Given the description of an element on the screen output the (x, y) to click on. 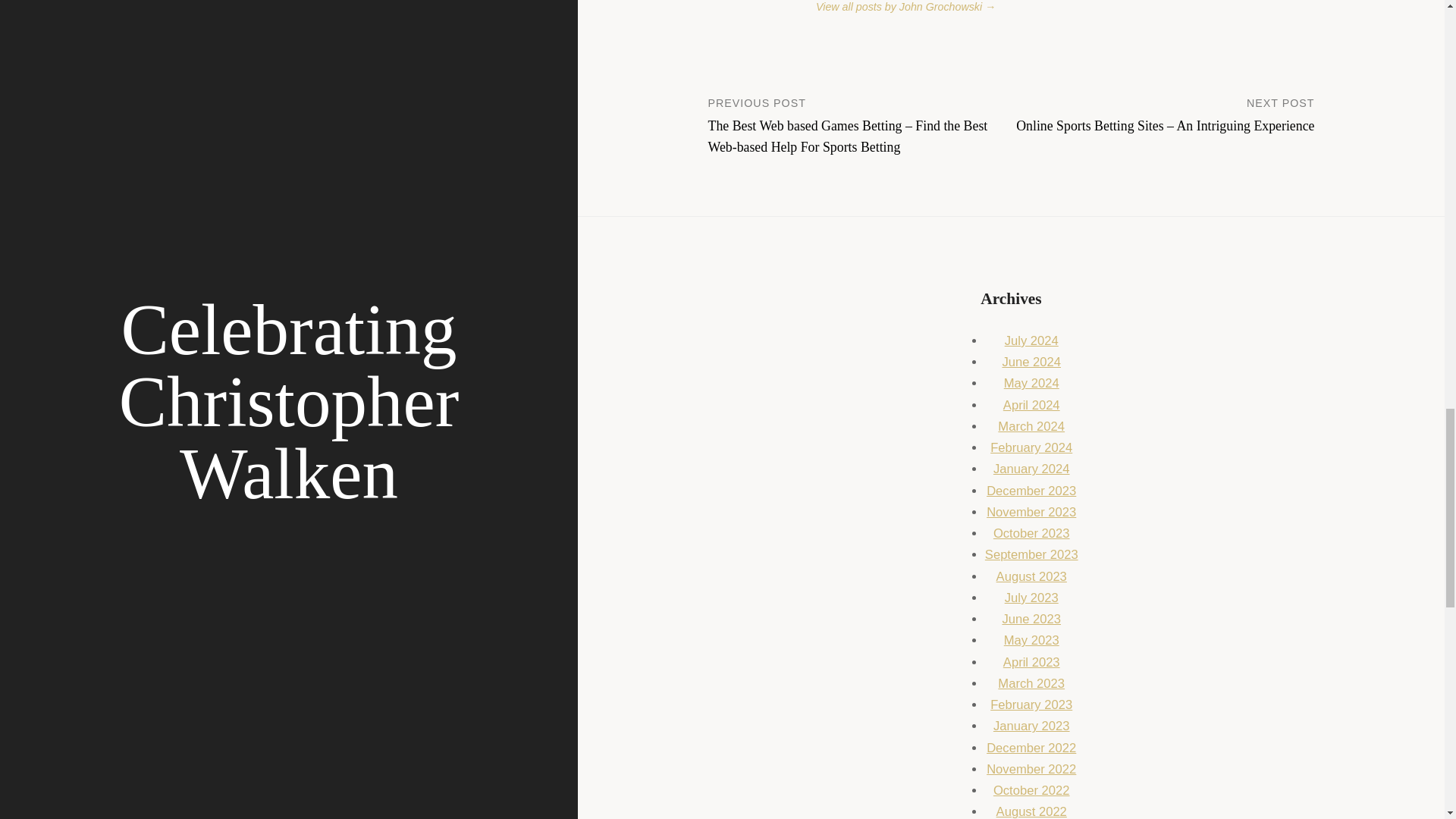
February 2024 (1030, 447)
August 2022 (1031, 811)
November 2022 (1031, 769)
July 2024 (1031, 340)
March 2023 (1030, 683)
April 2023 (1031, 662)
August 2023 (1031, 576)
May 2024 (1031, 382)
February 2023 (1030, 704)
March 2024 (1030, 426)
April 2024 (1031, 405)
January 2024 (1031, 468)
November 2023 (1031, 512)
December 2022 (1031, 748)
June 2023 (1031, 618)
